Given the description of an element on the screen output the (x, y) to click on. 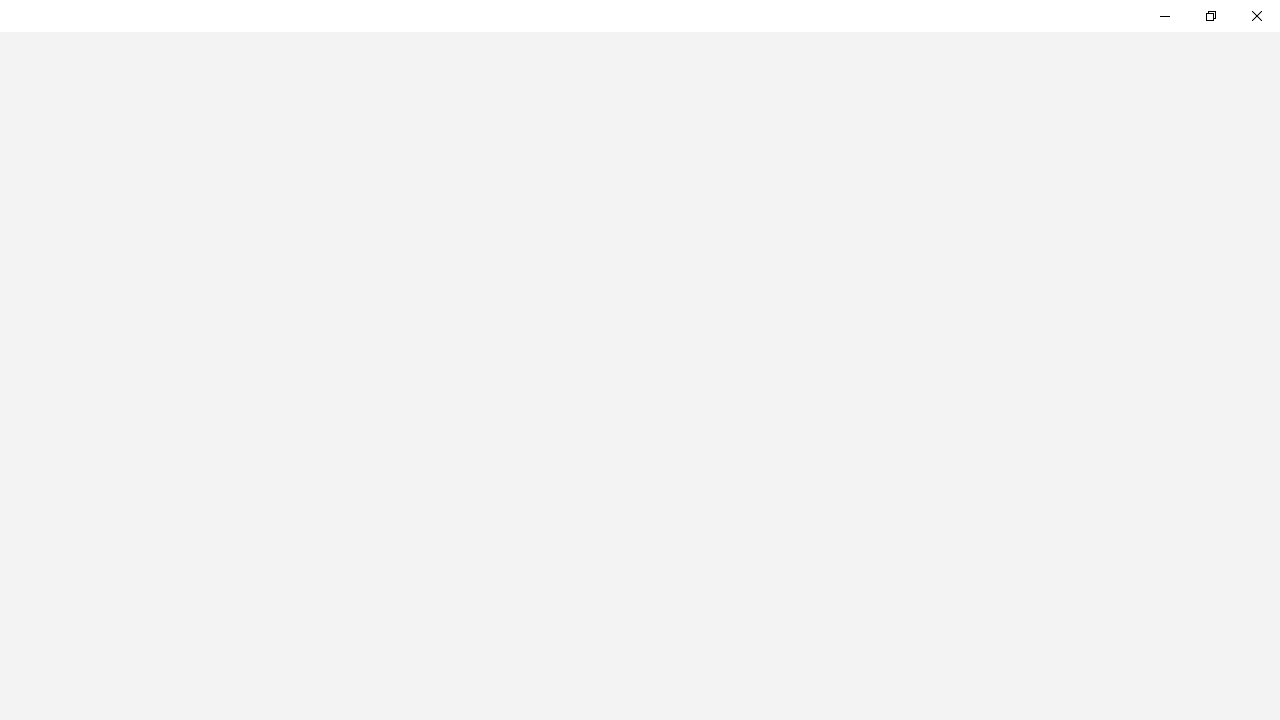
Close Feedback Hub (1256, 15)
Minimize Feedback Hub (1164, 15)
Vertical Small Decrease (1272, 86)
Restore Feedback Hub (1210, 15)
